Given the description of an element on the screen output the (x, y) to click on. 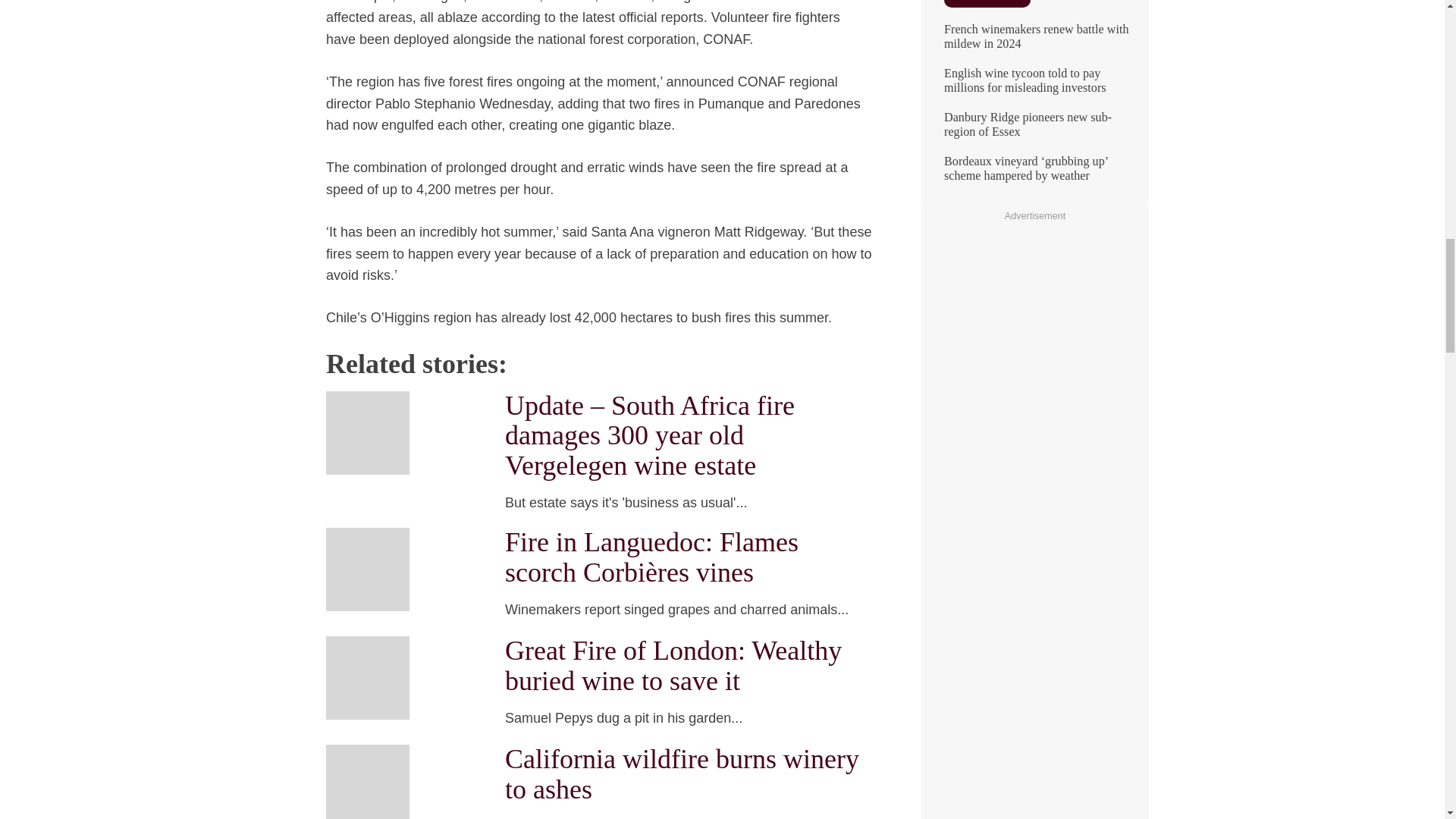
Bordeaux vineyard 'grubbing up' scheme hampered by weather (1035, 23)
Frost damage in German vineyards to cost millions (1035, 155)
The first vines taking root in Burkina Faso (1035, 110)
Shipwreck full of Champagne found in Baltic Sea (1035, 66)
